Given the description of an element on the screen output the (x, y) to click on. 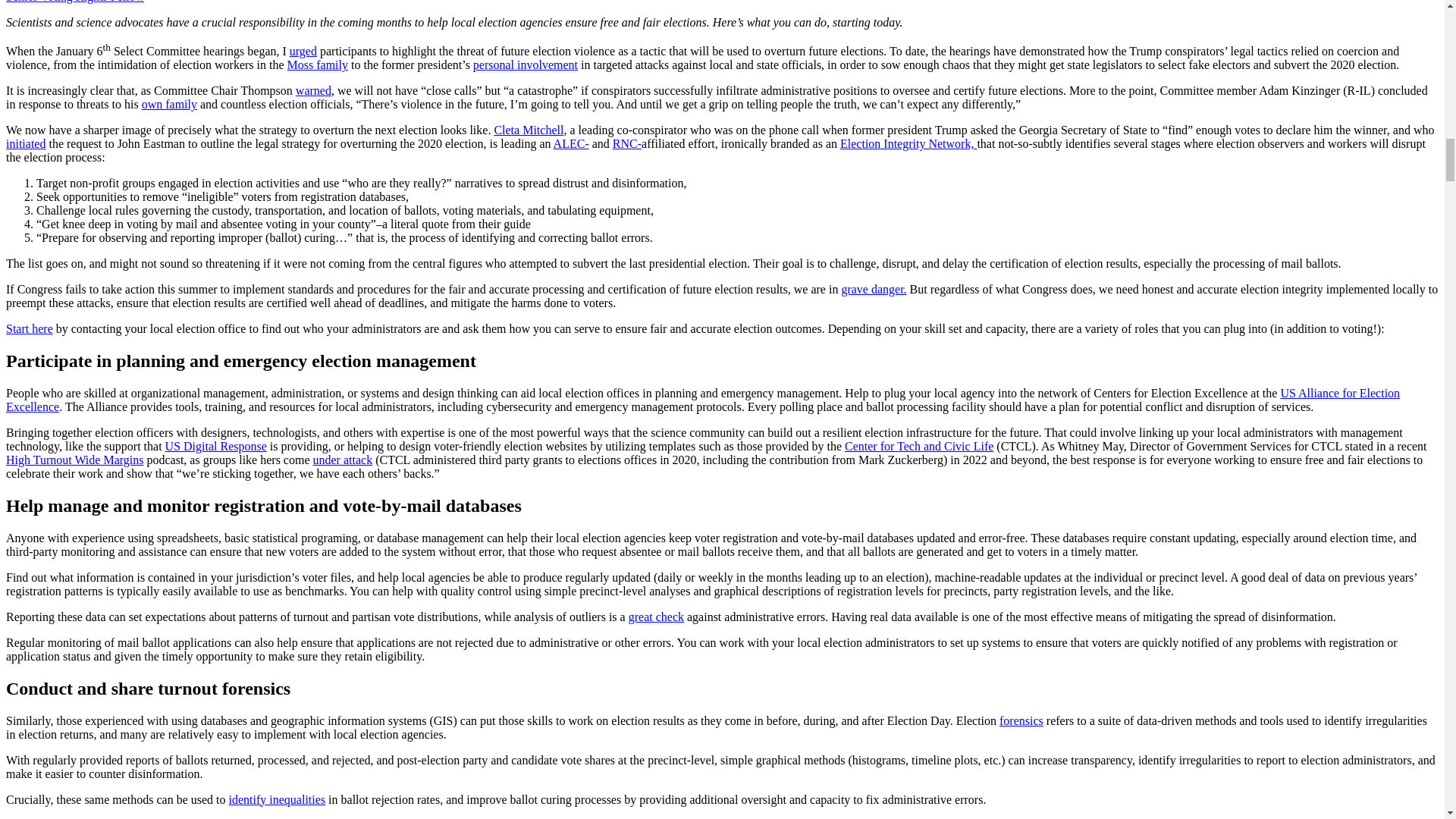
initiated (25, 143)
Election Integrity Network, (908, 143)
identify inequalities (277, 799)
urged (303, 51)
ALEC- (571, 143)
great check (656, 616)
personal involvement (525, 64)
own family (168, 103)
US Alliance for Election Excellence (702, 399)
Moss family (316, 64)
